Given the description of an element on the screen output the (x, y) to click on. 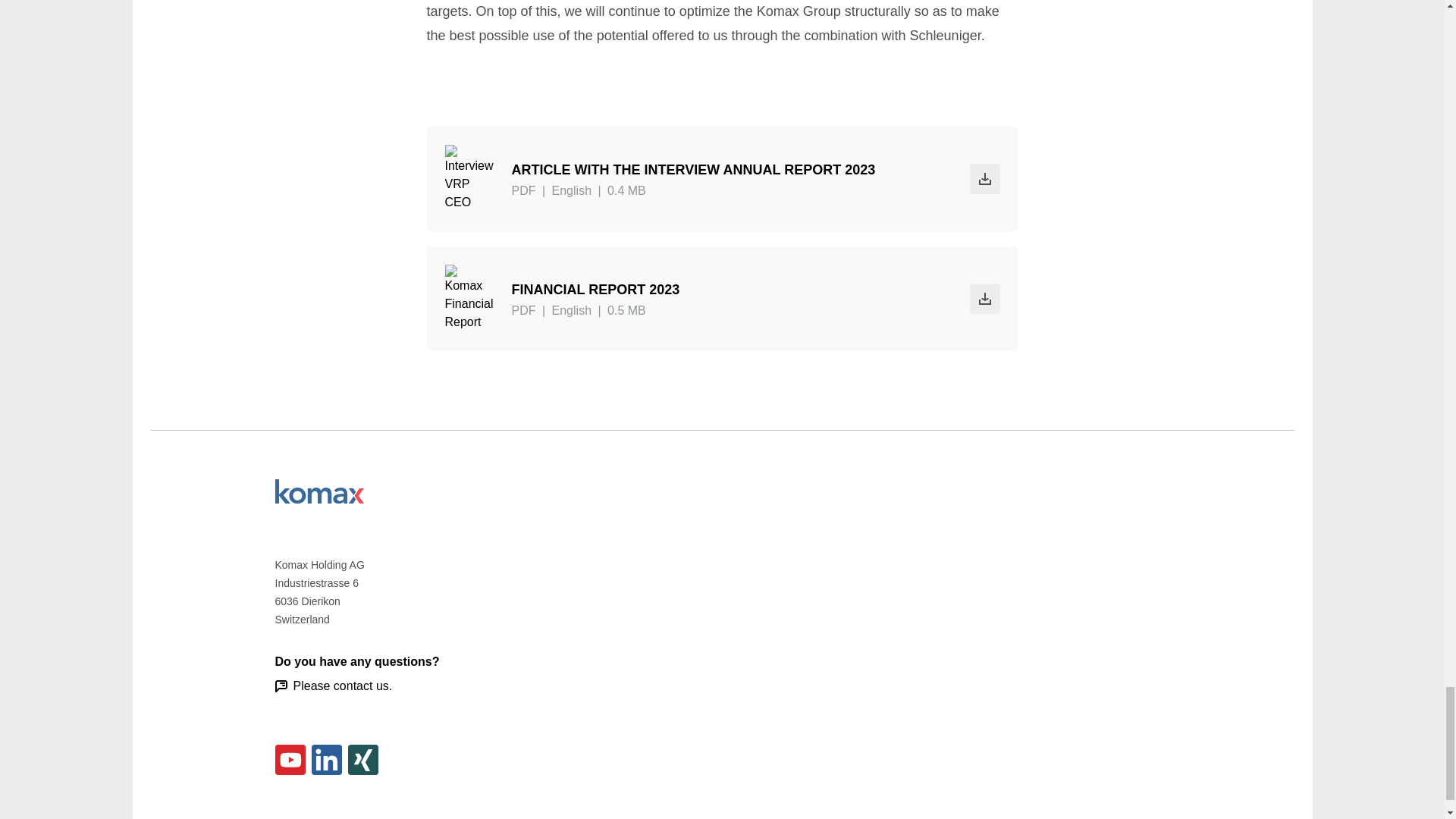
Opens in a new tab (721, 298)
Annual Report 2023 (318, 491)
Cookie Settings (936, 818)
Terms and Conditions (1118, 818)
Terms of Use (772, 818)
Imprint (1020, 818)
Please contact us. (333, 686)
Opens in a new tab (721, 178)
Privacy (851, 818)
